Given the description of an element on the screen output the (x, y) to click on. 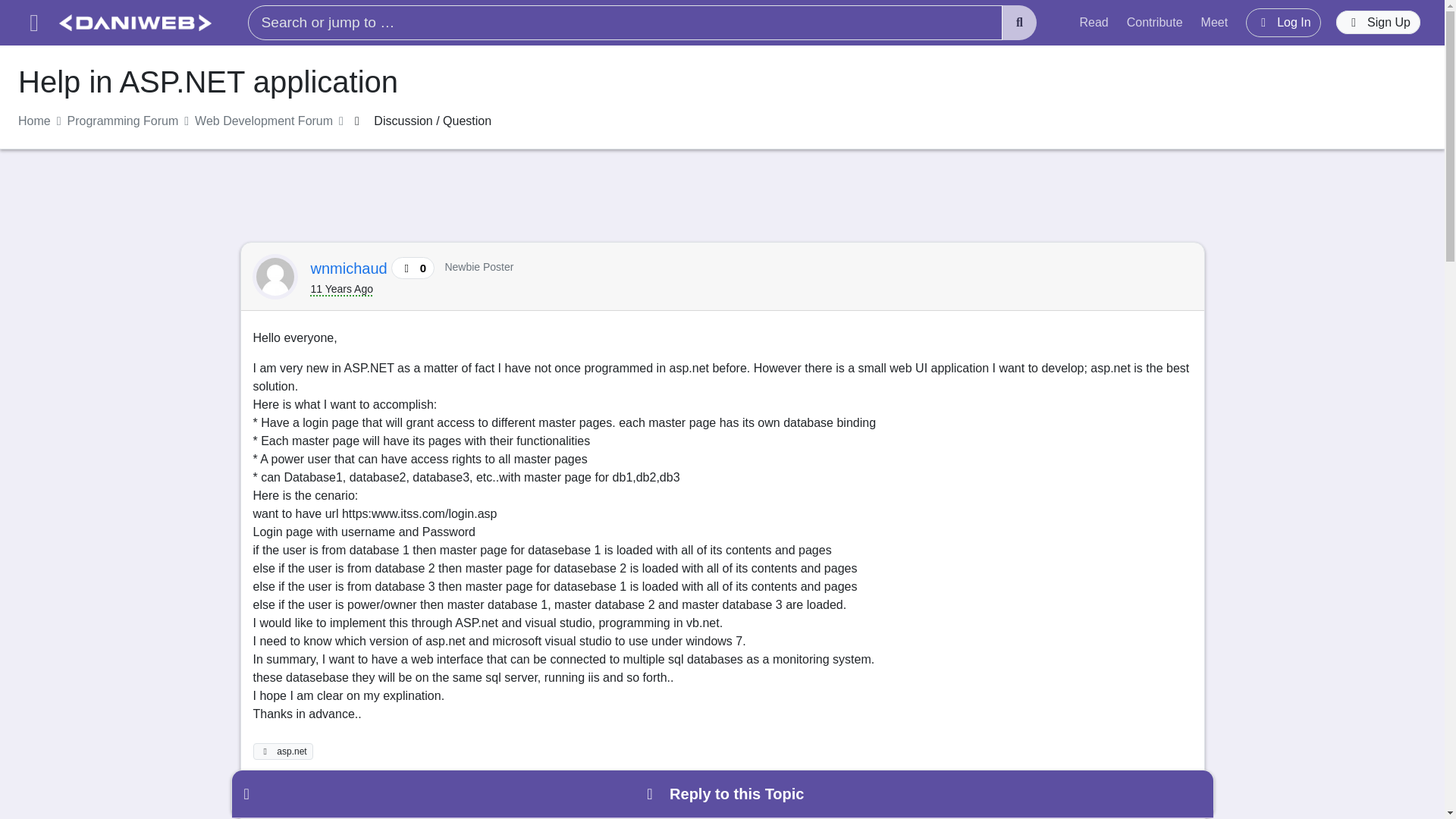
Web Development Forum (264, 120)
Read (1093, 22)
DaniWeb (135, 22)
Log In (1283, 22)
Menu (33, 22)
Programming Forum (122, 120)
asp.net (283, 751)
wnmichaud (351, 268)
Search (1018, 22)
0 (285, 799)
Toggle Menu (33, 22)
Contribute (1155, 22)
Home (33, 120)
0 (346, 799)
Sign Up (1378, 22)
